Given the description of an element on the screen output the (x, y) to click on. 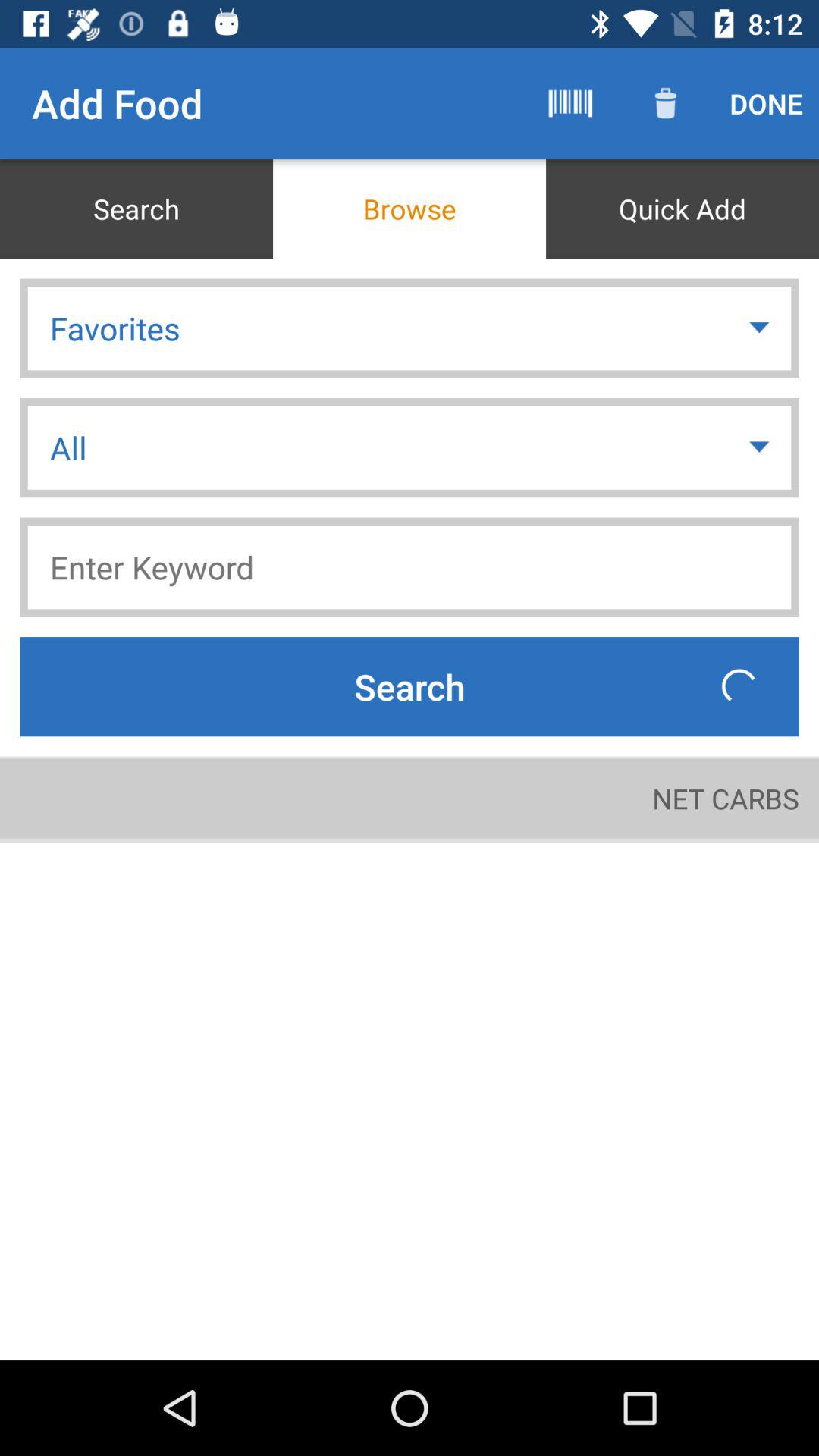
click the item to the left of the done (665, 103)
